Given the description of an element on the screen output the (x, y) to click on. 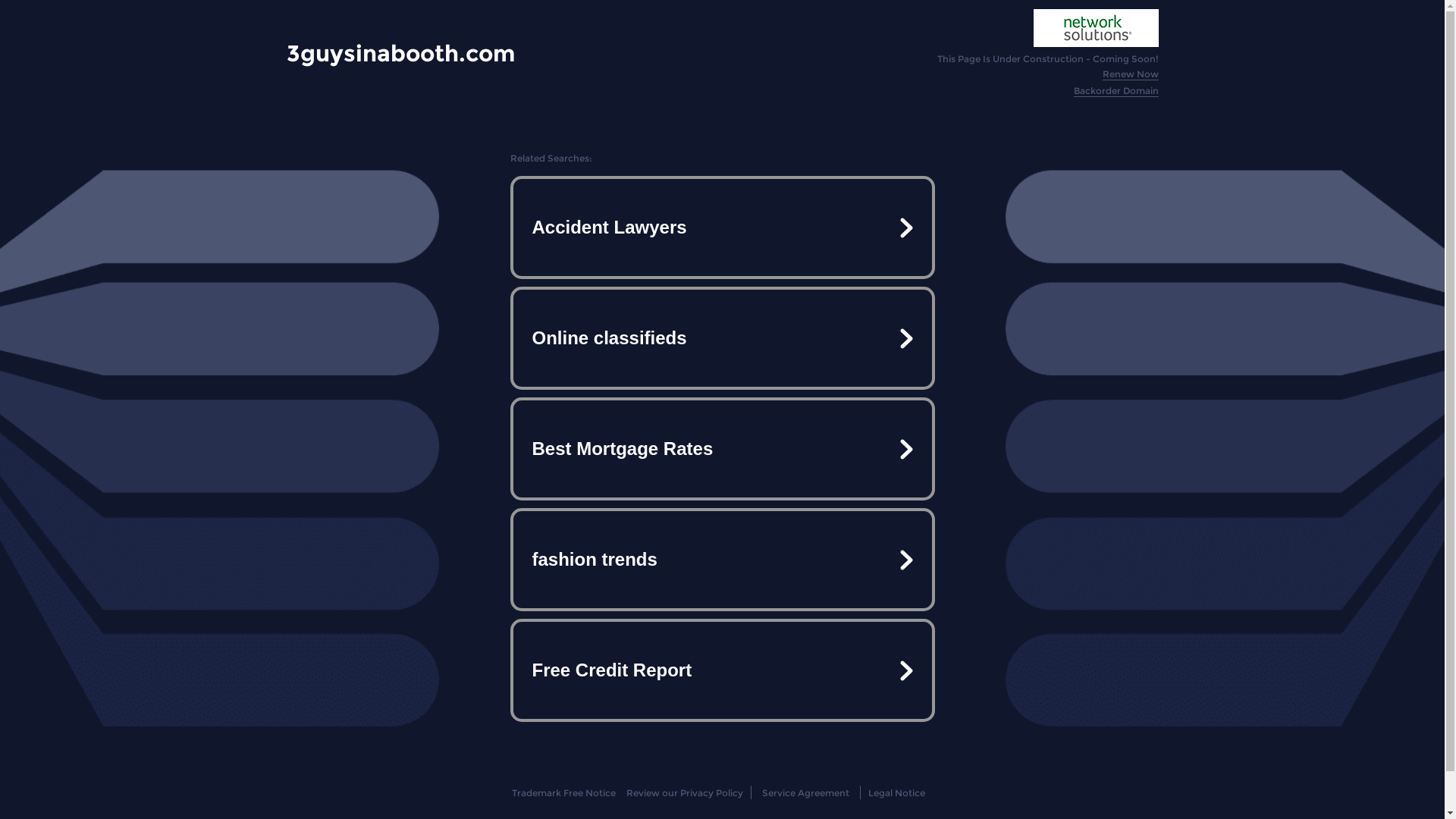
Trademark Free Notice Element type: text (563, 792)
Best Mortgage Rates Element type: text (721, 448)
Service Agreement Element type: text (805, 792)
Legal Notice Element type: text (896, 792)
Online classifieds Element type: text (721, 337)
Review our Privacy Policy Element type: text (684, 792)
Backorder Domain Element type: text (1115, 90)
Accident Lawyers Element type: text (721, 227)
Renew Now Element type: text (1130, 74)
fashion trends Element type: text (721, 559)
3guysinabooth.com Element type: text (400, 53)
Free Credit Report Element type: text (721, 669)
